Given the description of an element on the screen output the (x, y) to click on. 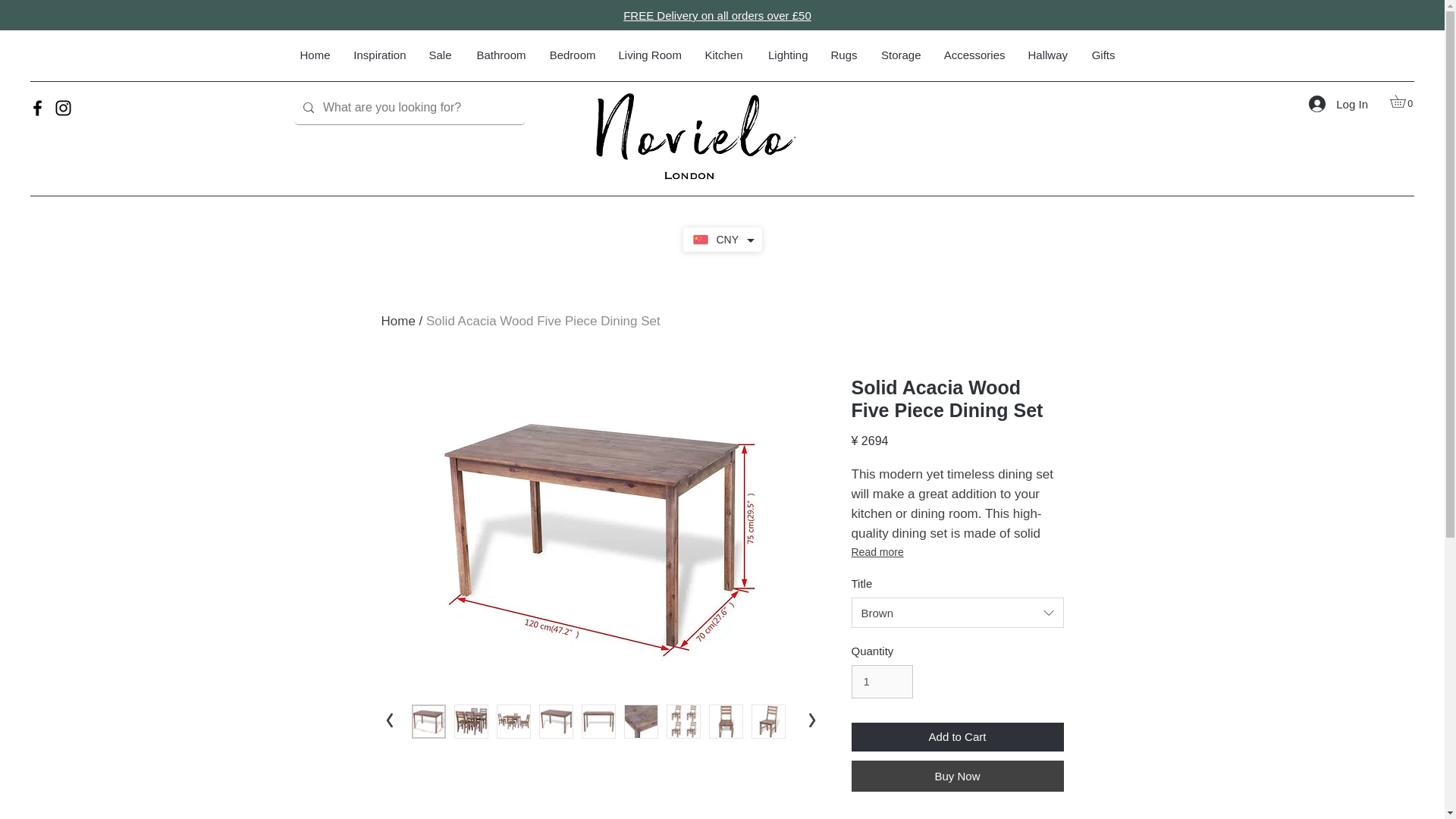
Storage (899, 55)
Lighting (786, 55)
Home (314, 55)
Sale (439, 55)
Rugs (842, 55)
1 (881, 681)
Accessories (974, 55)
Log In (1338, 103)
0 (1404, 101)
Bedroom (572, 55)
